Given the description of an element on the screen output the (x, y) to click on. 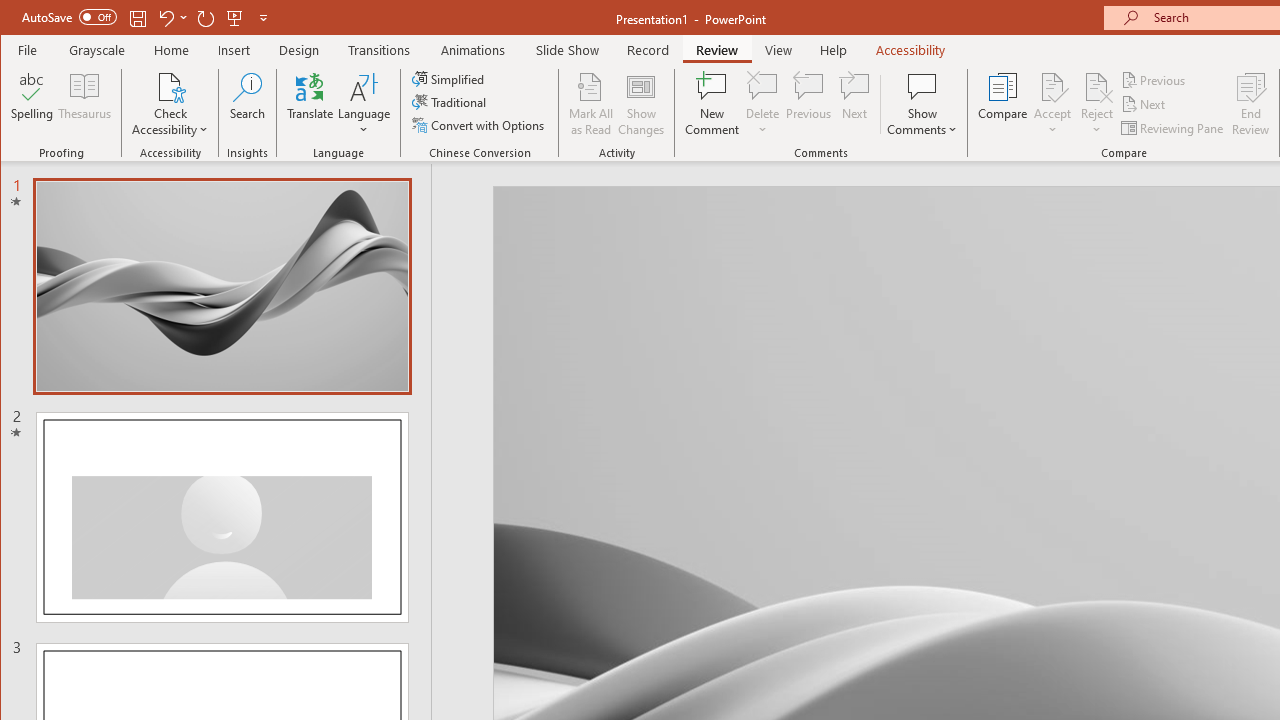
Convert with Options... (479, 124)
